Given the description of an element on the screen output the (x, y) to click on. 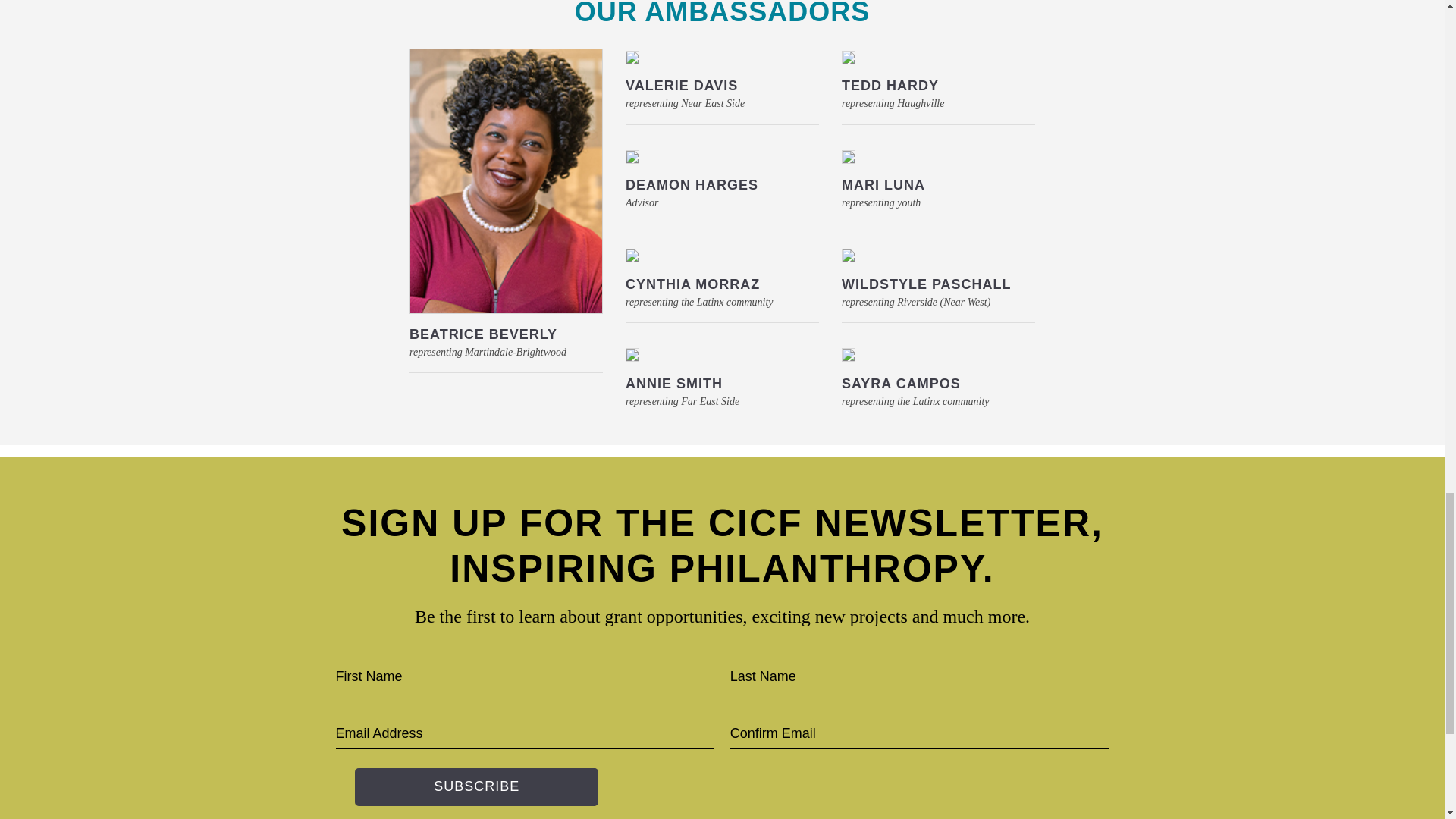
Subscribe (476, 786)
